Given the description of an element on the screen output the (x, y) to click on. 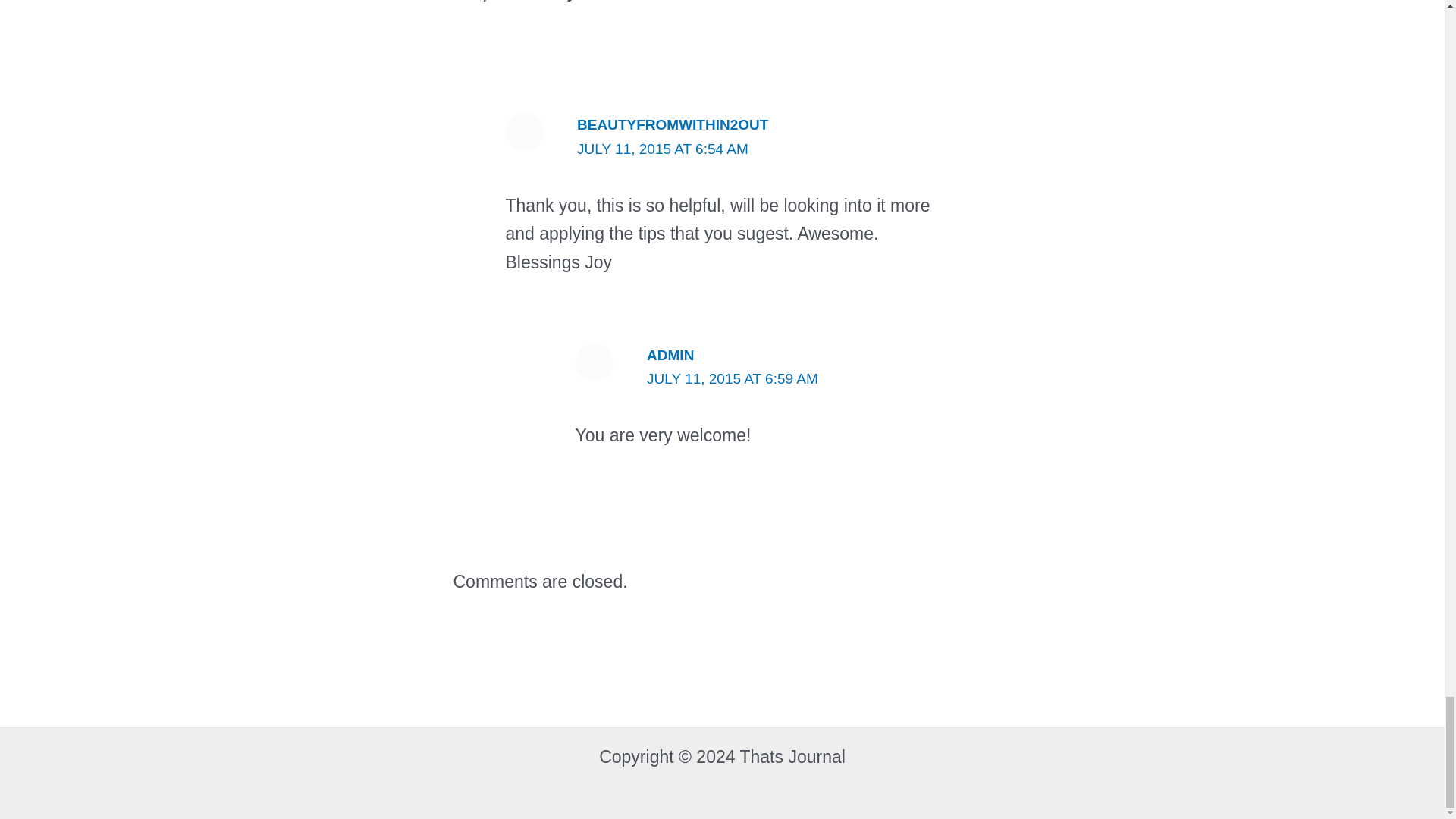
BEAUTYFROMWITHIN2OUT (672, 124)
JULY 11, 2015 AT 6:54 AM (662, 148)
JULY 11, 2015 AT 6:59 AM (732, 378)
